Given the description of an element on the screen output the (x, y) to click on. 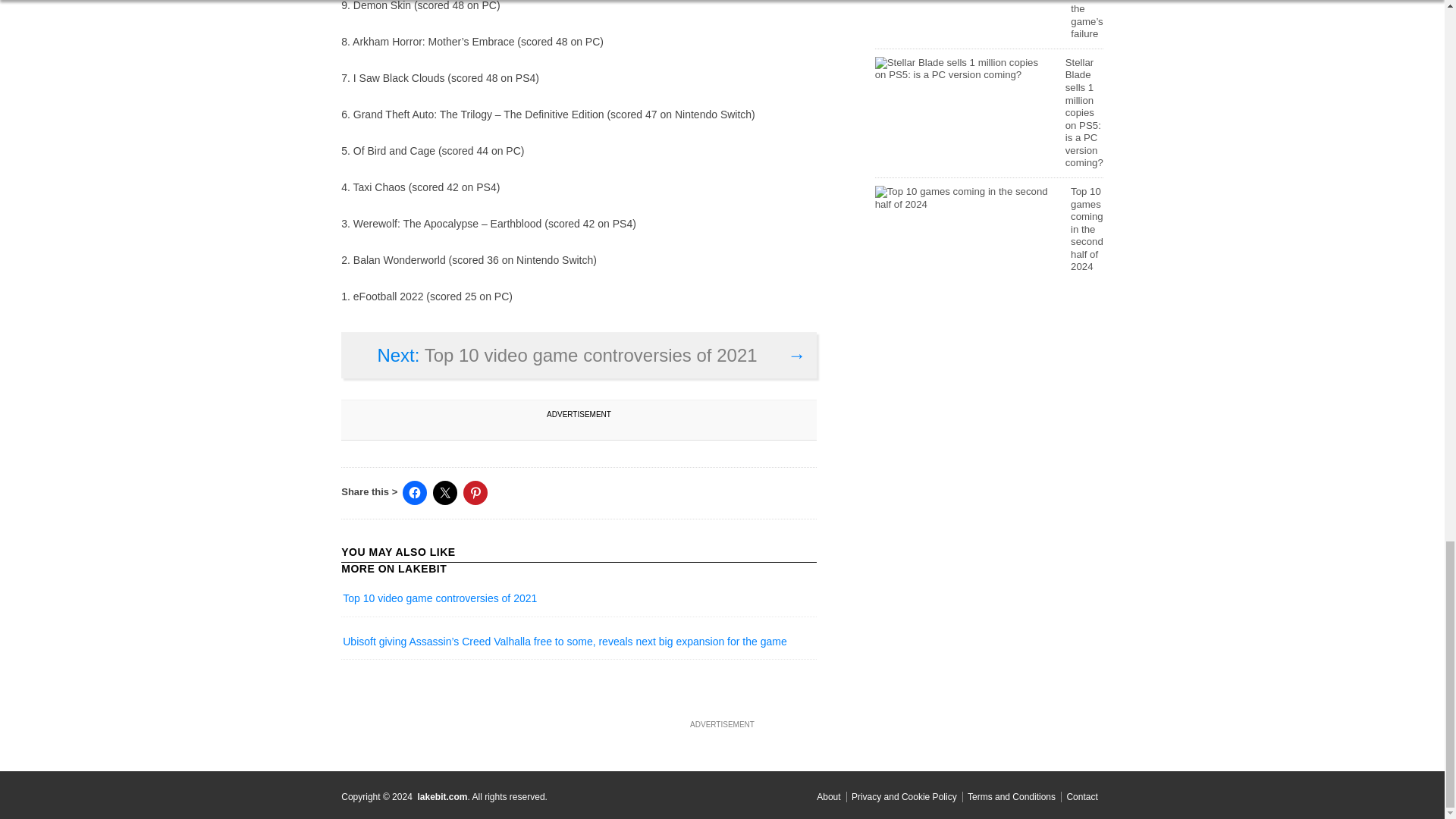
Click to share on Facebook (414, 492)
Click to share on X (444, 492)
Top 10 video game controversies of 2021 (439, 601)
Click to share on Pinterest (475, 492)
